Given the description of an element on the screen output the (x, y) to click on. 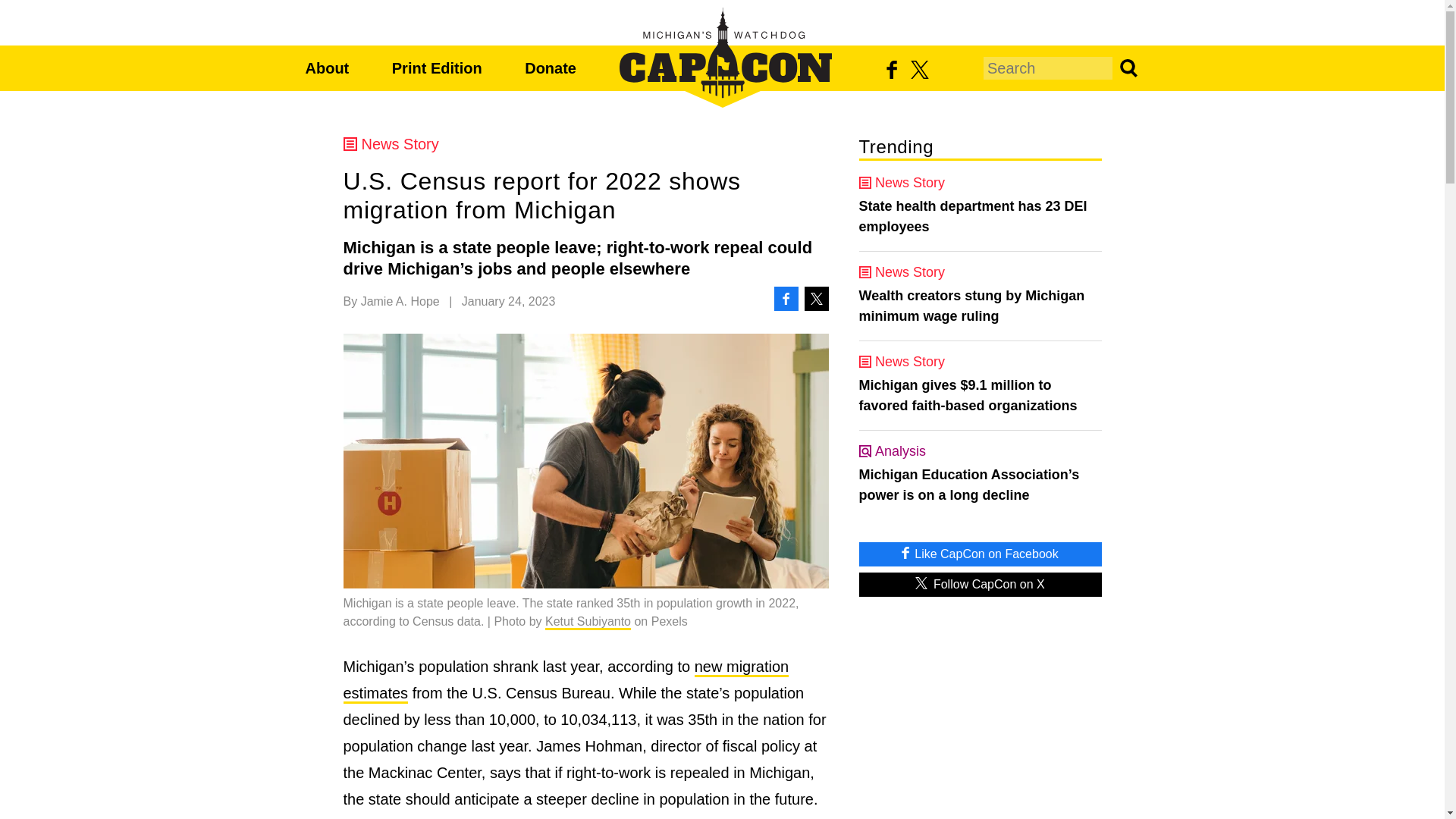
Follow CapCon on X (979, 584)
News Story (979, 272)
News Story (979, 361)
About (326, 67)
Analysis (979, 450)
Print Edition (436, 67)
Ketut Subiyanto (587, 622)
Donate (550, 67)
News Story (585, 143)
new migration estimates (565, 680)
Jamie A. Hope (400, 300)
Wealth creators stung by Michigan minimum wage ruling (979, 305)
State health department has 23 DEI employees (979, 216)
Search (1127, 67)
Like CapCon on Facebook (979, 554)
